Given the description of an element on the screen output the (x, y) to click on. 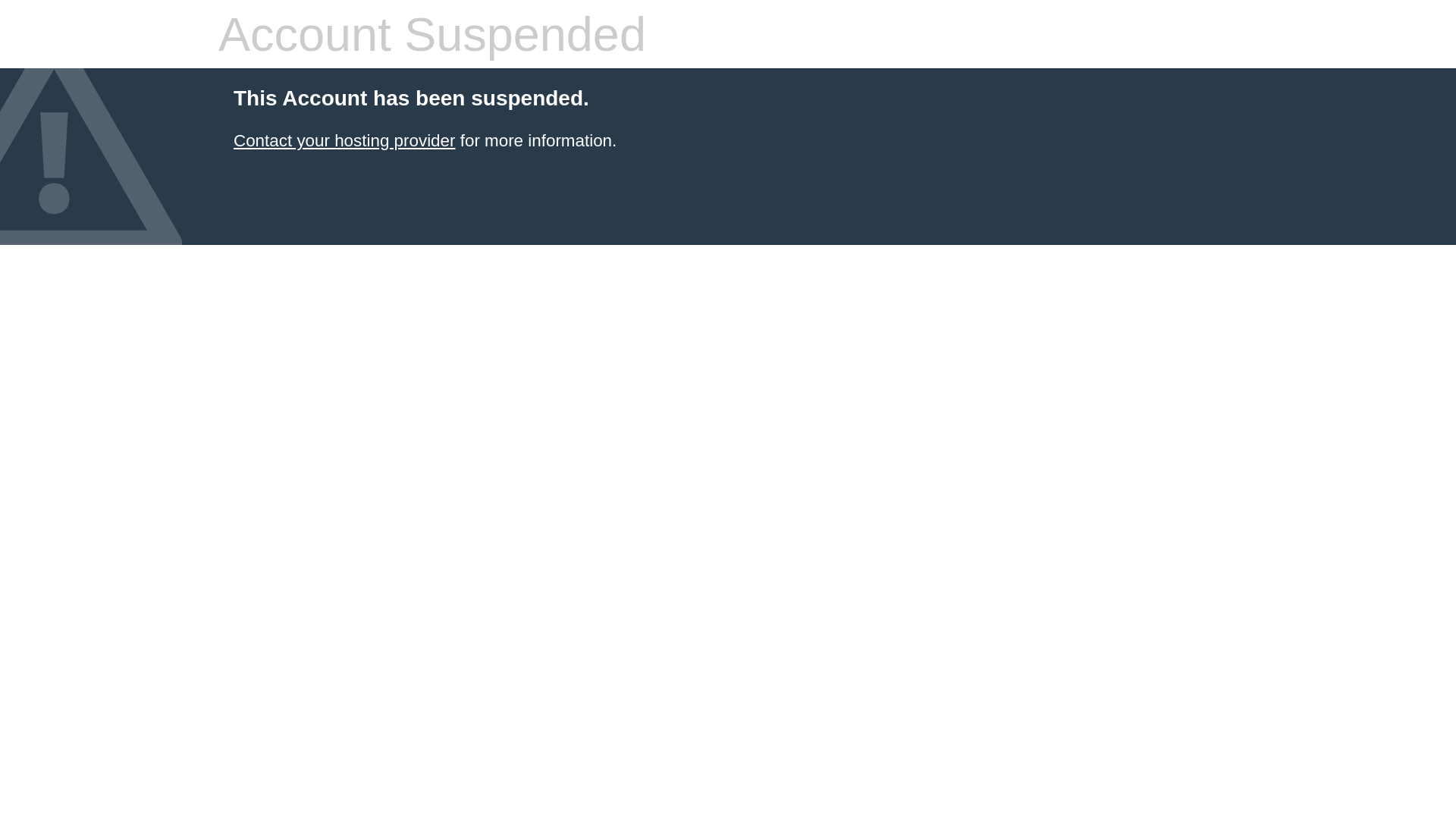
Contact your hosting provider Element type: text (344, 140)
